Given the description of an element on the screen output the (x, y) to click on. 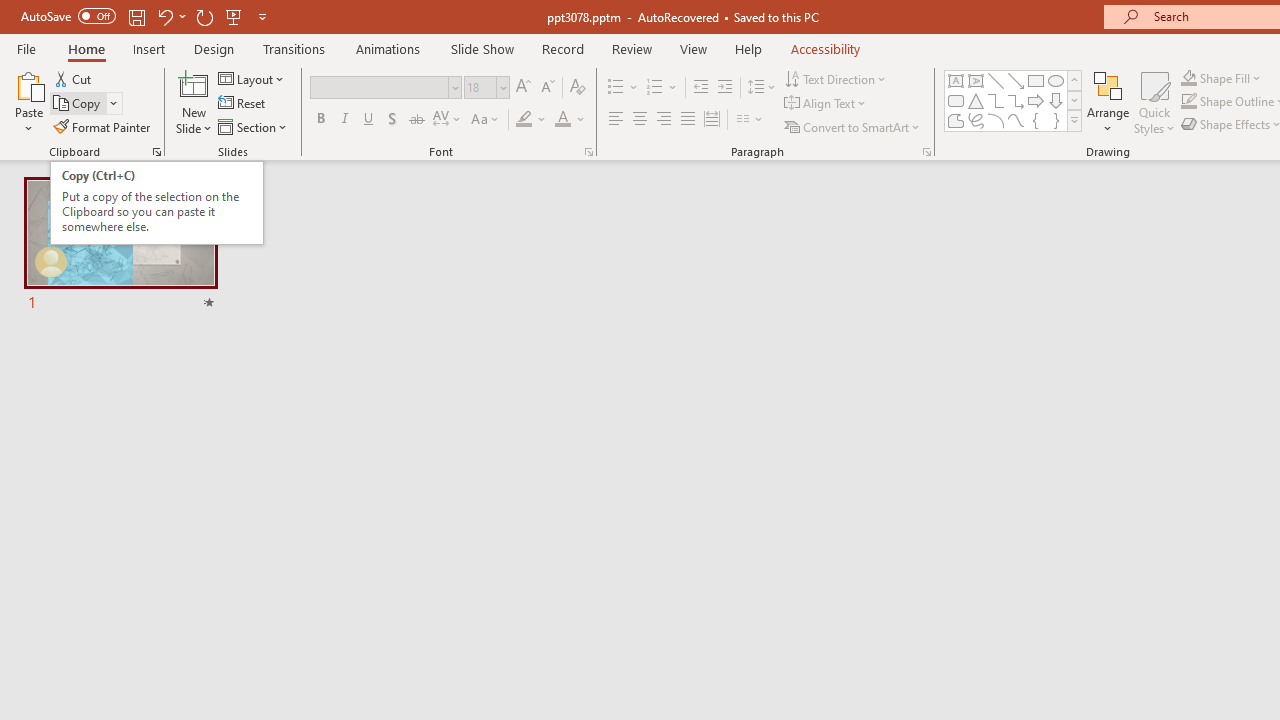
Section (254, 126)
Format Painter (103, 126)
Increase Indent (725, 87)
Shape Fill Dark Green, Accent 2 (1188, 78)
Review (631, 48)
Row up (1074, 79)
Text Box (955, 80)
Help (748, 48)
Increase Font Size (522, 87)
Line Arrow (1016, 80)
View (693, 48)
Arrange (1108, 102)
